Given the description of an element on the screen output the (x, y) to click on. 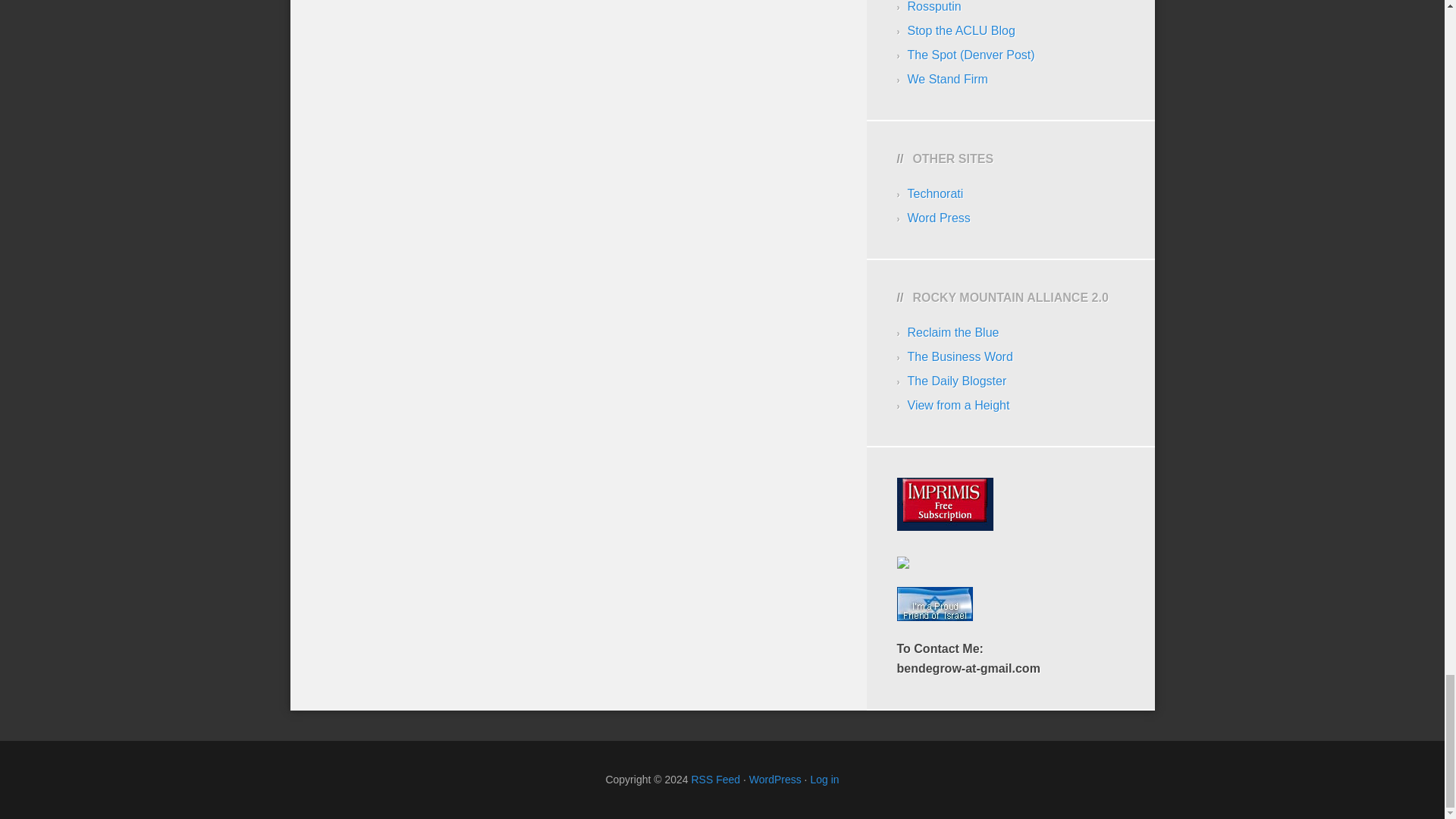
Colorado Health Care Reform (947, 78)
